Given the description of an element on the screen output the (x, y) to click on. 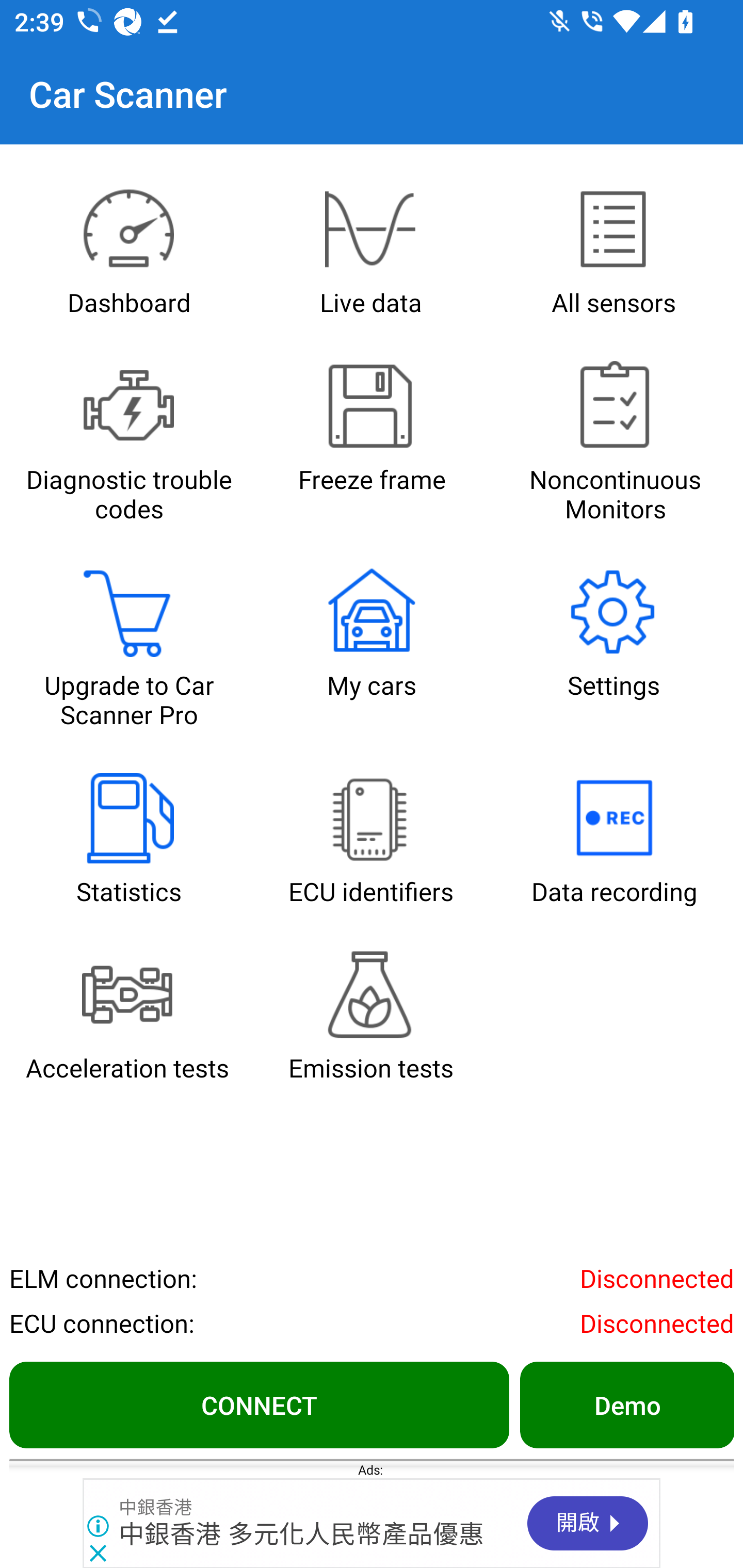
CONNECT (258, 1404)
Demo (627, 1404)
中銀香港 (155, 1507)
開啟 (587, 1522)
中銀香港 多元化人民幣產品優惠 (301, 1533)
